Given the description of an element on the screen output the (x, y) to click on. 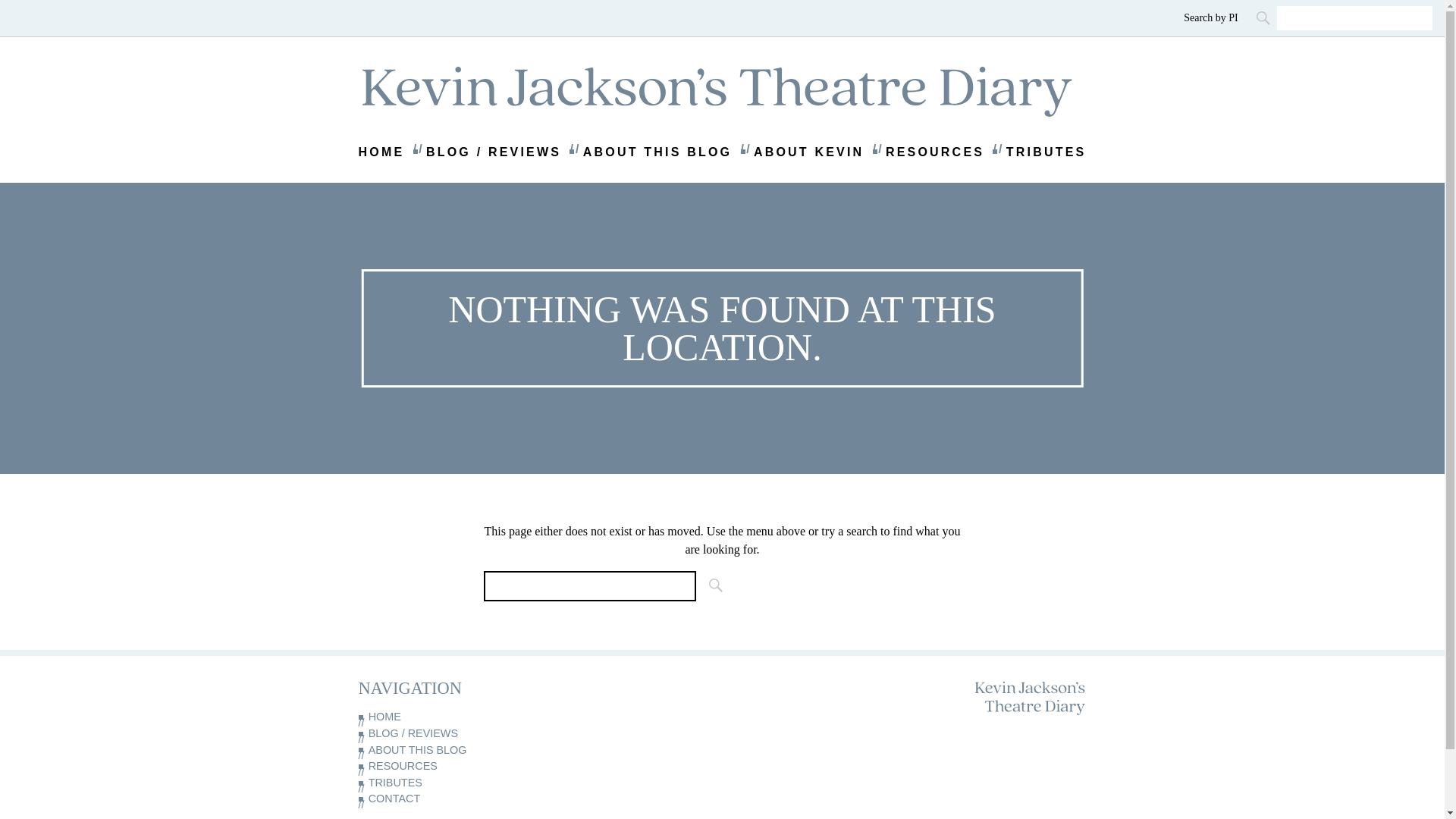
TRIBUTES (1046, 152)
HOME (440, 717)
CONTACT (440, 799)
ABOUT THIS BLOG (440, 750)
Search (1264, 17)
ABOUT THIS BLOG (657, 152)
Search (710, 585)
RESOURCES (440, 766)
RESOURCES (934, 152)
ABOUT KEVIN (808, 152)
TRIBUTES (440, 782)
HOME (381, 152)
